Given the description of an element on the screen output the (x, y) to click on. 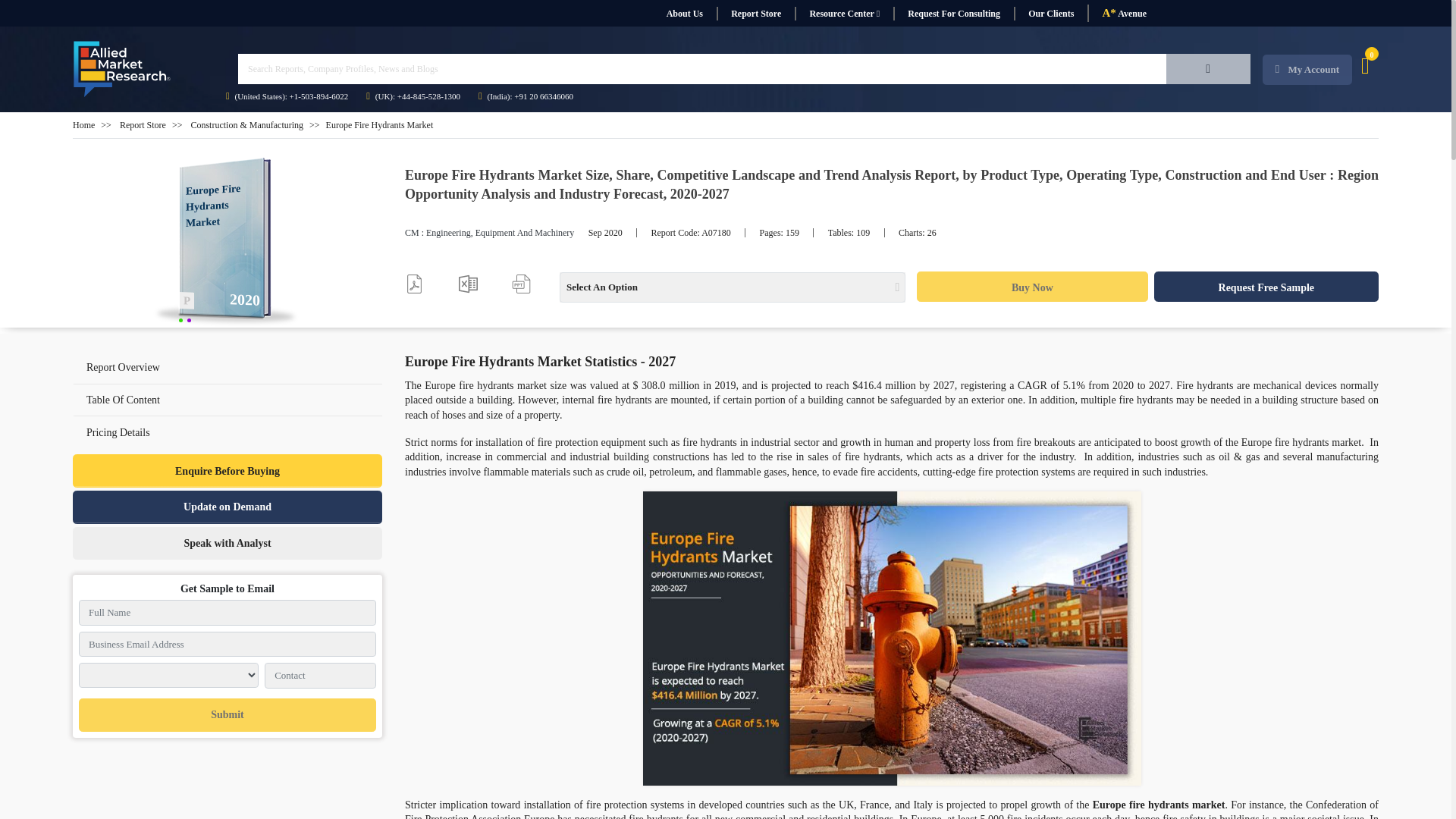
Our Clients (1050, 13)
Europe Fire Hydrants Market (227, 242)
Request For Consulting (953, 13)
Report Store (755, 13)
Pricing Details (226, 431)
Buy Now (1032, 286)
CM : Engineering, Equipment And Machinery (488, 232)
Resource Center (843, 13)
Update on Demand (226, 507)
Report Store (142, 124)
